Given the description of an element on the screen output the (x, y) to click on. 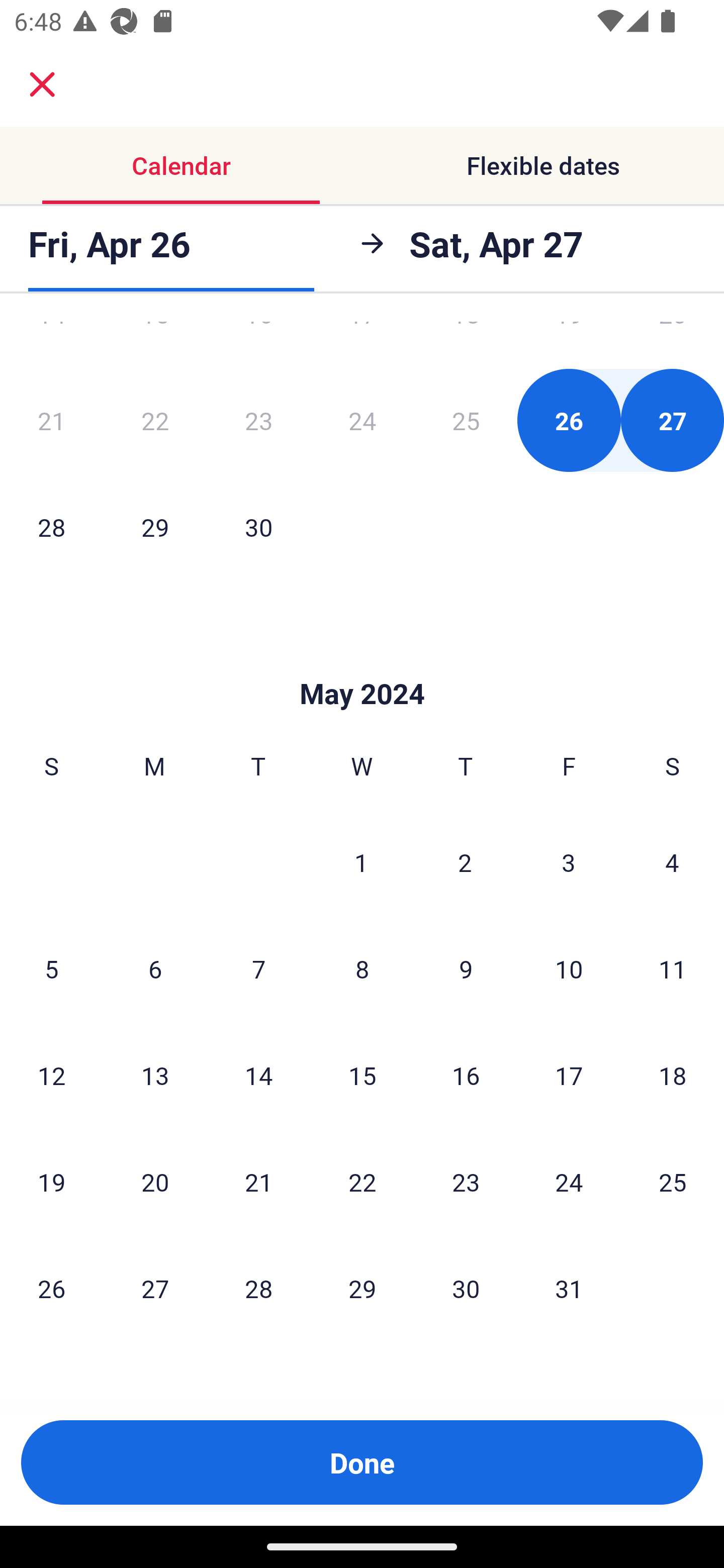
close. (42, 84)
Flexible dates (542, 164)
21 Sunday, April 21, 2024 (51, 419)
22 Monday, April 22, 2024 (155, 419)
23 Tuesday, April 23, 2024 (258, 419)
24 Wednesday, April 24, 2024 (362, 419)
25 Thursday, April 25, 2024 (465, 419)
28 Sunday, April 28, 2024 (51, 526)
29 Monday, April 29, 2024 (155, 526)
30 Tuesday, April 30, 2024 (258, 526)
Skip to Done (362, 662)
1 Wednesday, May 1, 2024 (361, 862)
2 Thursday, May 2, 2024 (464, 862)
3 Friday, May 3, 2024 (568, 862)
4 Saturday, May 4, 2024 (672, 862)
5 Sunday, May 5, 2024 (51, 968)
6 Monday, May 6, 2024 (155, 968)
7 Tuesday, May 7, 2024 (258, 968)
8 Wednesday, May 8, 2024 (362, 968)
9 Thursday, May 9, 2024 (465, 968)
10 Friday, May 10, 2024 (569, 968)
11 Saturday, May 11, 2024 (672, 968)
12 Sunday, May 12, 2024 (51, 1075)
13 Monday, May 13, 2024 (155, 1075)
14 Tuesday, May 14, 2024 (258, 1075)
15 Wednesday, May 15, 2024 (362, 1075)
16 Thursday, May 16, 2024 (465, 1075)
17 Friday, May 17, 2024 (569, 1075)
18 Saturday, May 18, 2024 (672, 1075)
19 Sunday, May 19, 2024 (51, 1182)
20 Monday, May 20, 2024 (155, 1182)
21 Tuesday, May 21, 2024 (258, 1182)
22 Wednesday, May 22, 2024 (362, 1182)
23 Thursday, May 23, 2024 (465, 1182)
24 Friday, May 24, 2024 (569, 1182)
25 Saturday, May 25, 2024 (672, 1182)
26 Sunday, May 26, 2024 (51, 1288)
27 Monday, May 27, 2024 (155, 1288)
28 Tuesday, May 28, 2024 (258, 1288)
29 Wednesday, May 29, 2024 (362, 1288)
30 Thursday, May 30, 2024 (465, 1288)
31 Friday, May 31, 2024 (569, 1288)
Done (361, 1462)
